Given the description of an element on the screen output the (x, y) to click on. 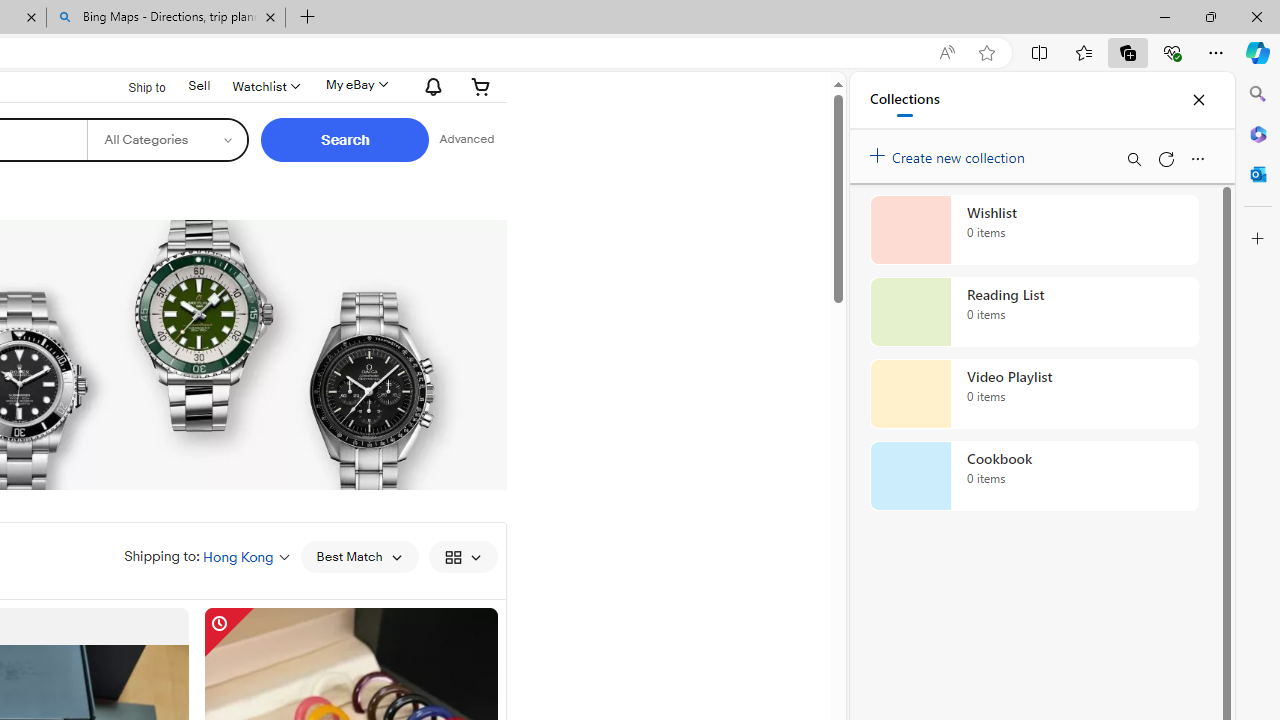
Cookbook collection, 0 items (1034, 475)
View: Gallery View (462, 556)
Select a category for search (167, 139)
Create new collection (950, 153)
Outlook (1258, 174)
Advanced Search (466, 139)
Watchlist (264, 86)
Your shopping cart (481, 86)
